Given the description of an element on the screen output the (x, y) to click on. 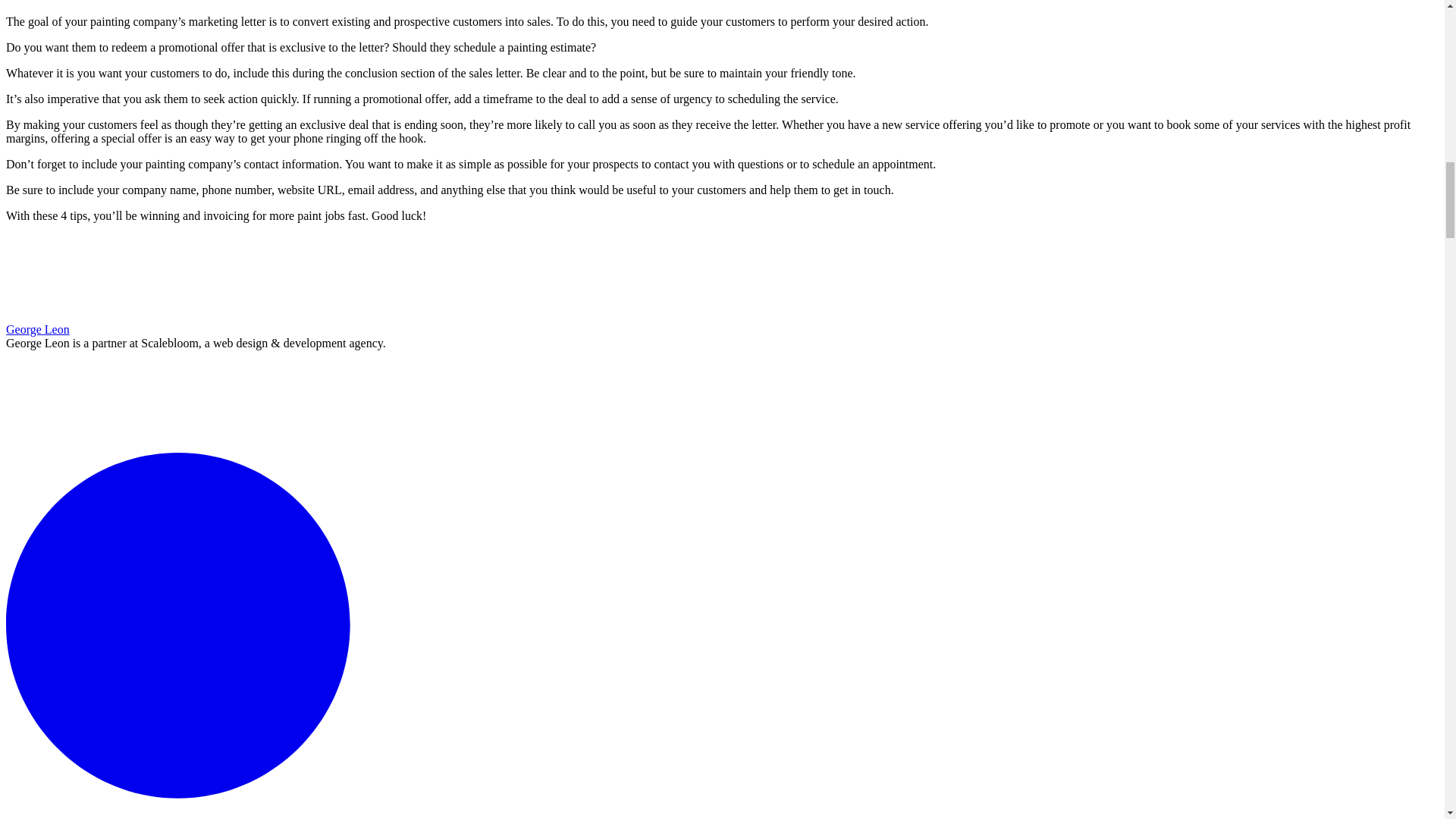
George Leon (37, 328)
